Given the description of an element on the screen output the (x, y) to click on. 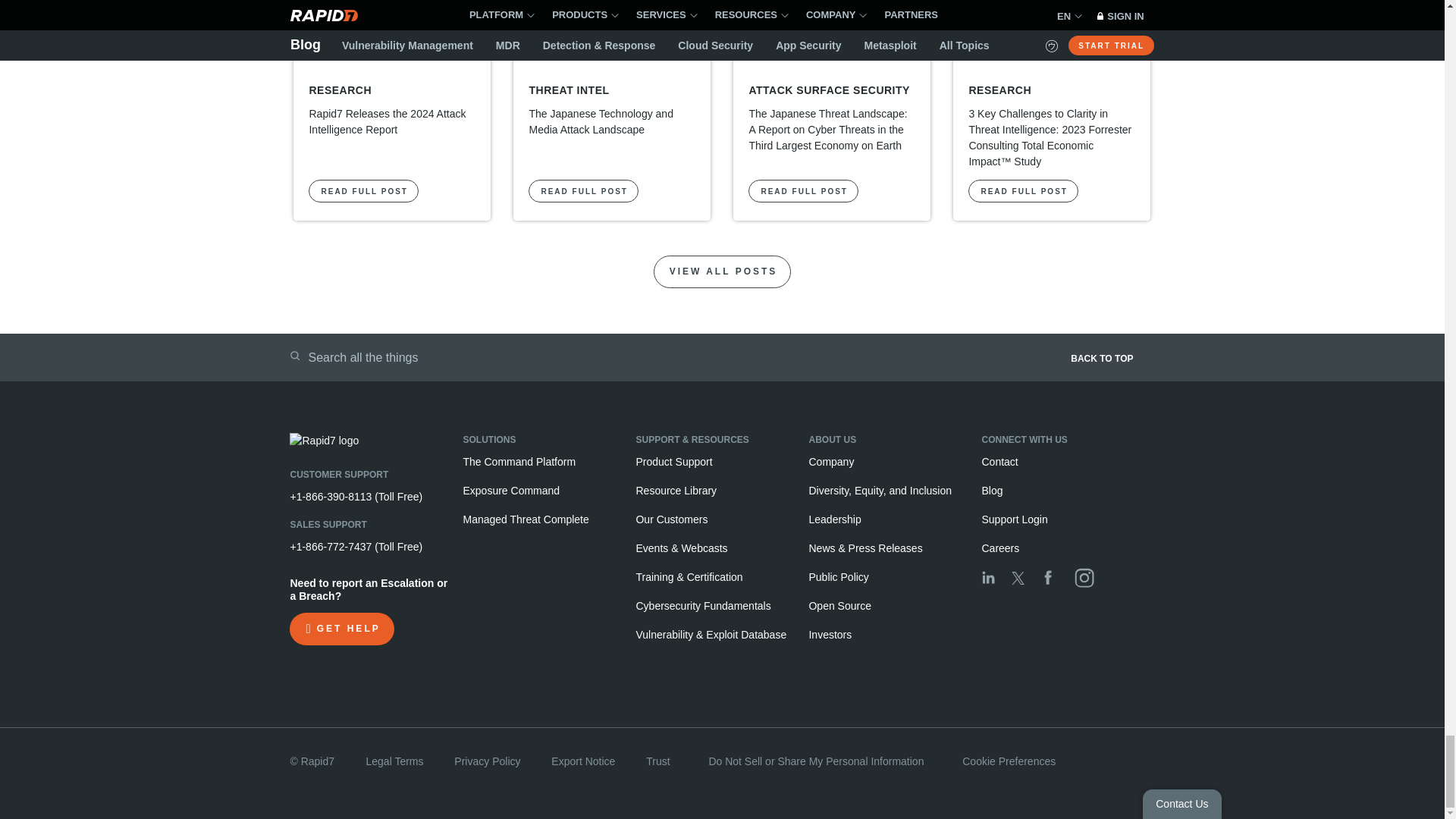
Submit Search (294, 355)
Submit Search (294, 355)
BACK TO TOP (949, 363)
